Given the description of an element on the screen output the (x, y) to click on. 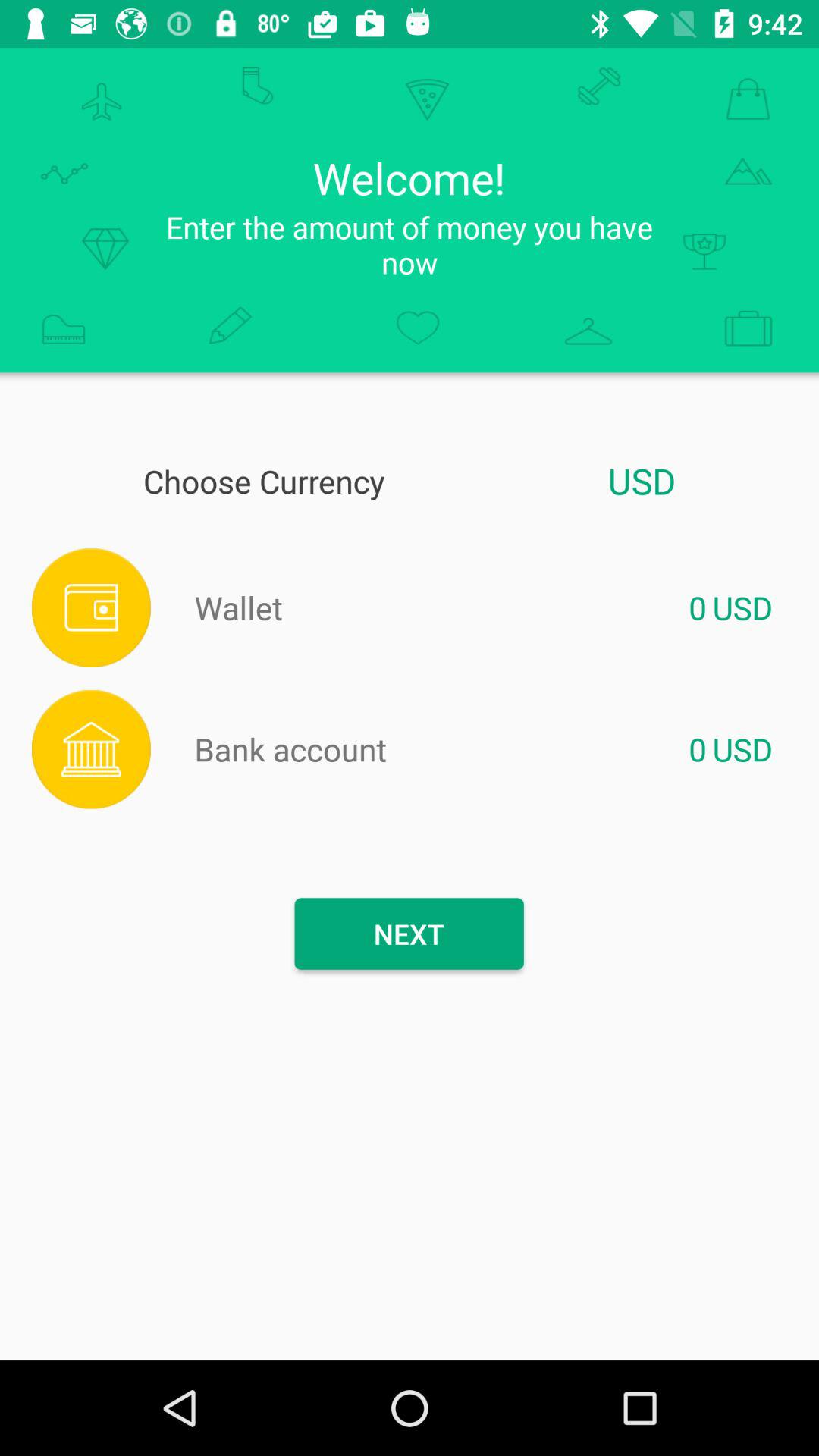
select the icon below bank account (408, 933)
